Given the description of an element on the screen output the (x, y) to click on. 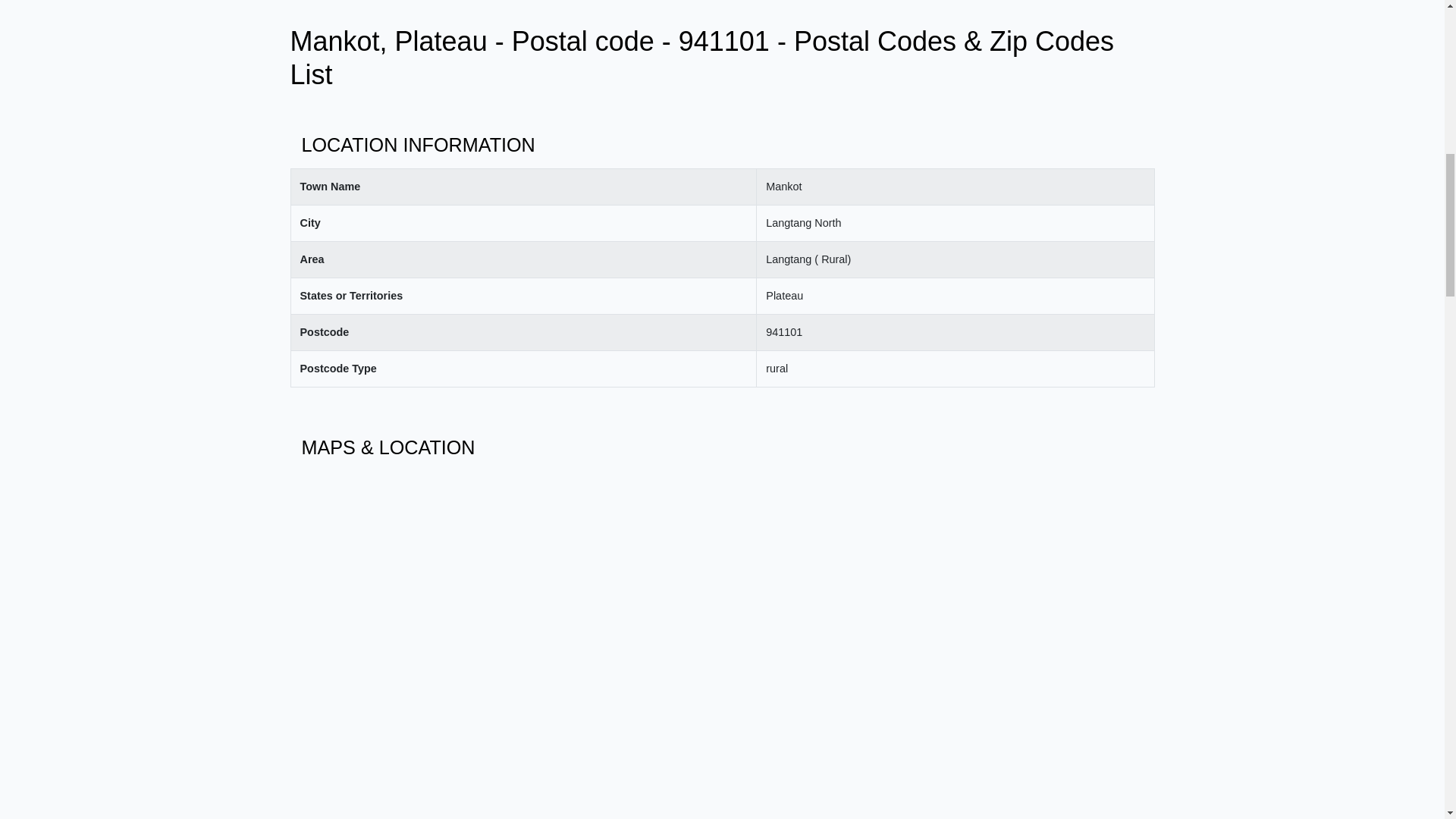
Advertisement (721, 12)
